Given the description of an element on the screen output the (x, y) to click on. 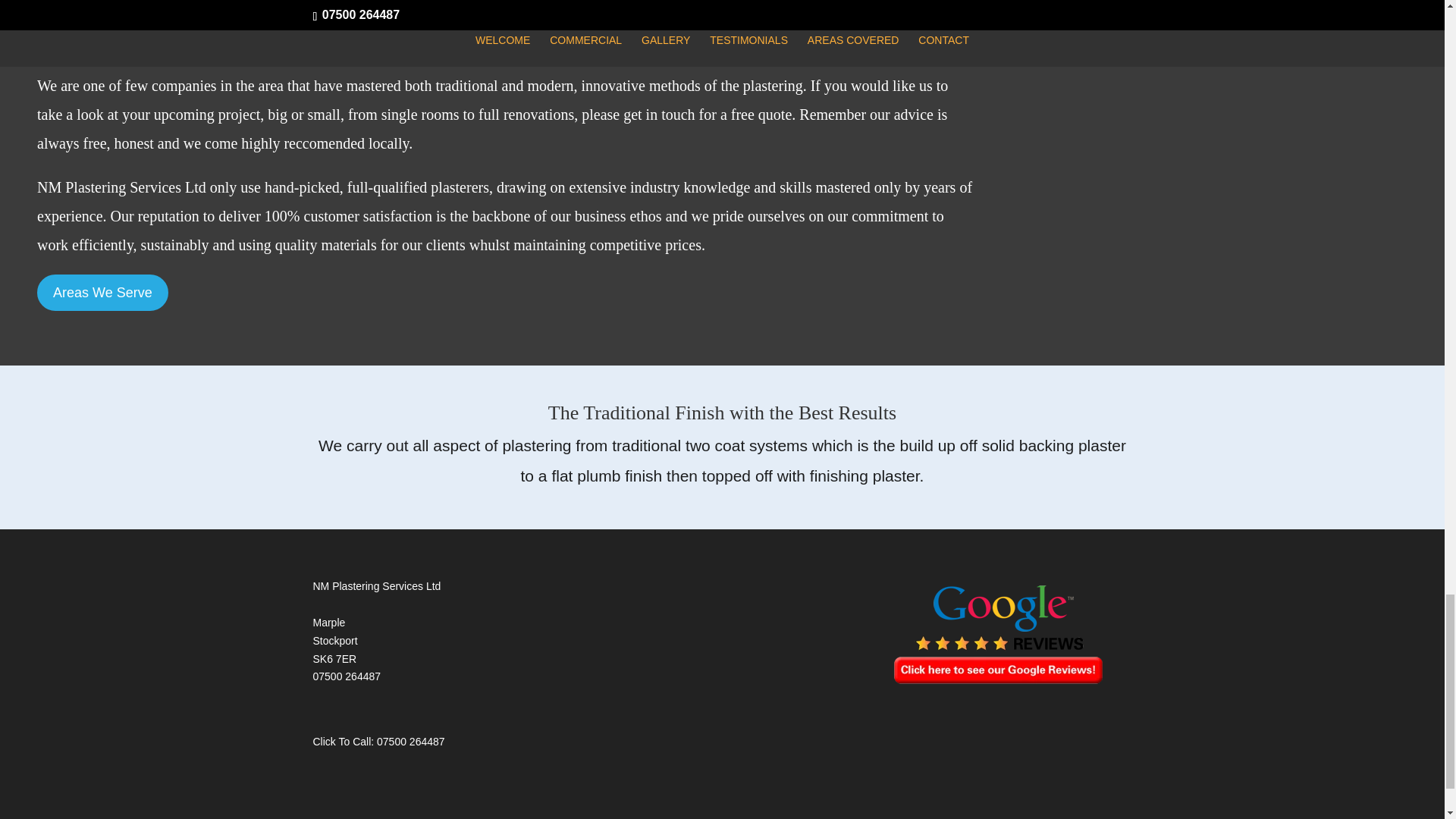
07500 264487 (411, 741)
Areas We Serve (102, 292)
